Given the description of an element on the screen output the (x, y) to click on. 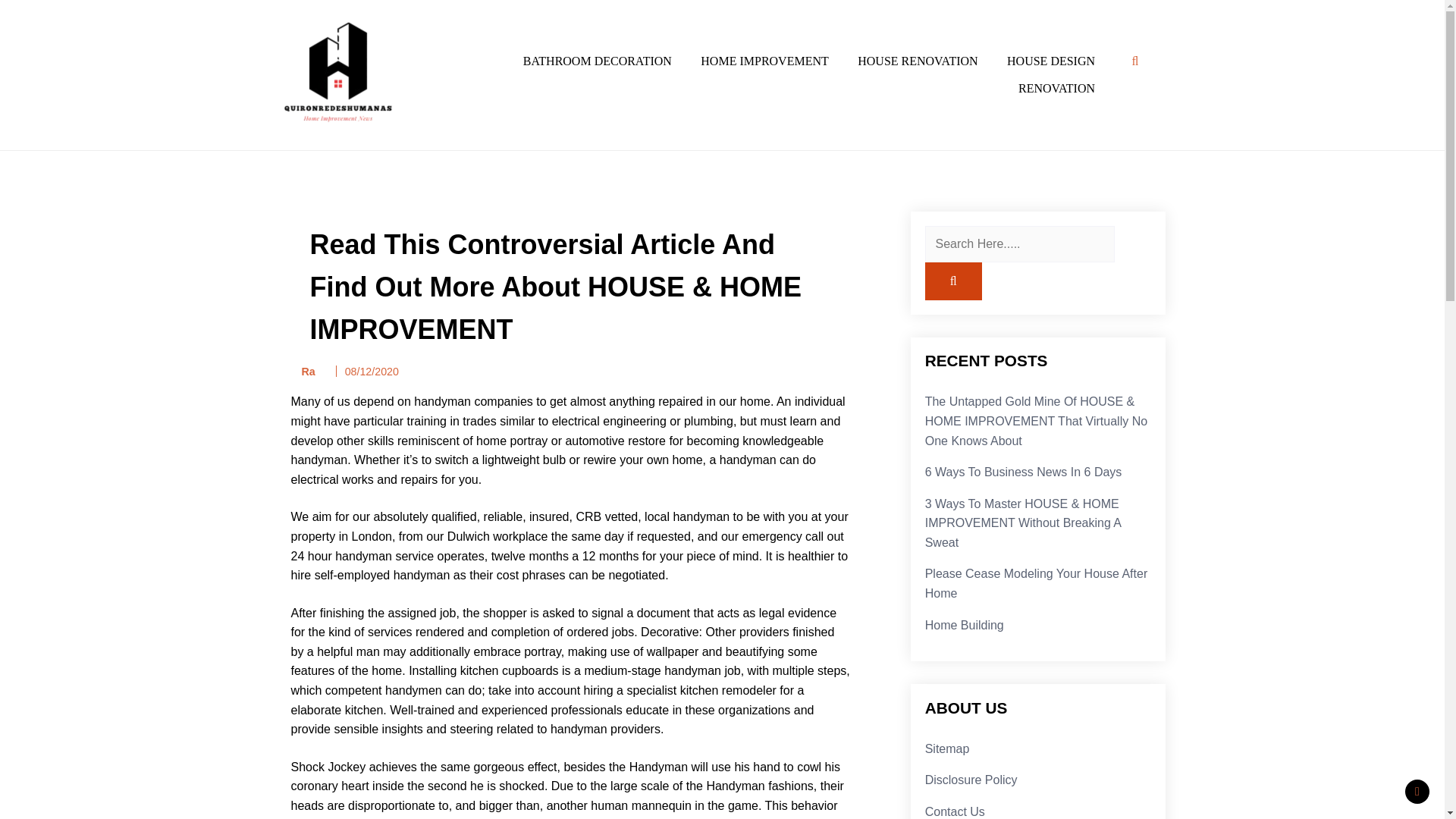
RENOVATION (1057, 88)
HOME IMPROVEMENT (764, 61)
6 Ways To Business News In 6 Days (1023, 472)
BATHROOM DECORATION (597, 61)
HOUSE RENOVATION (917, 61)
Sitemap (946, 748)
Disclosure Policy (970, 779)
QRH (295, 143)
HOUSE DESIGN (1051, 61)
Ra (303, 371)
